Given the description of an element on the screen output the (x, y) to click on. 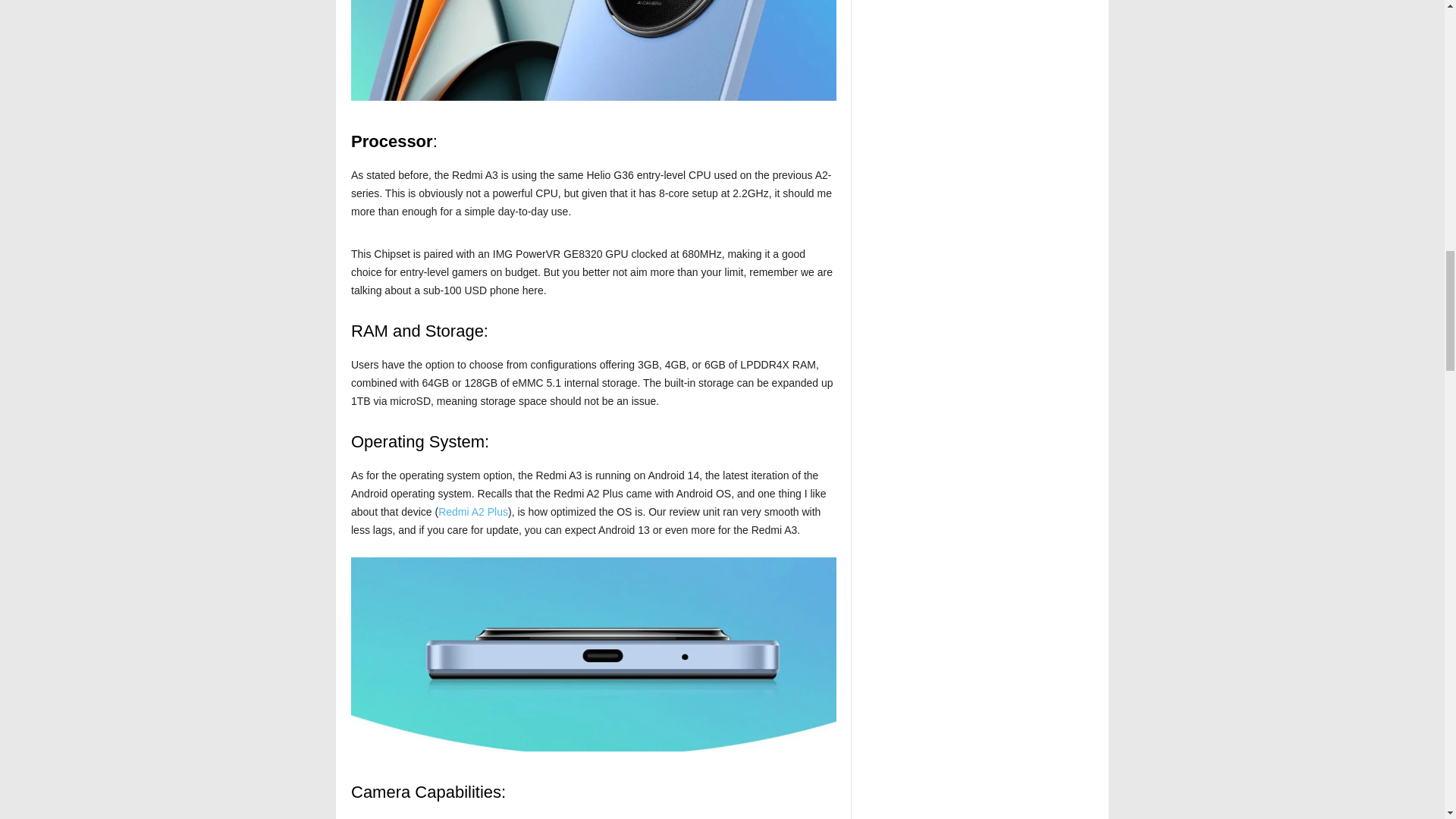
Redmi A2 Plus (473, 511)
display of redmi A3 1024x579 (592, 50)
redmi a3 usb type c 1024x409 (592, 654)
